Given the description of an element on the screen output the (x, y) to click on. 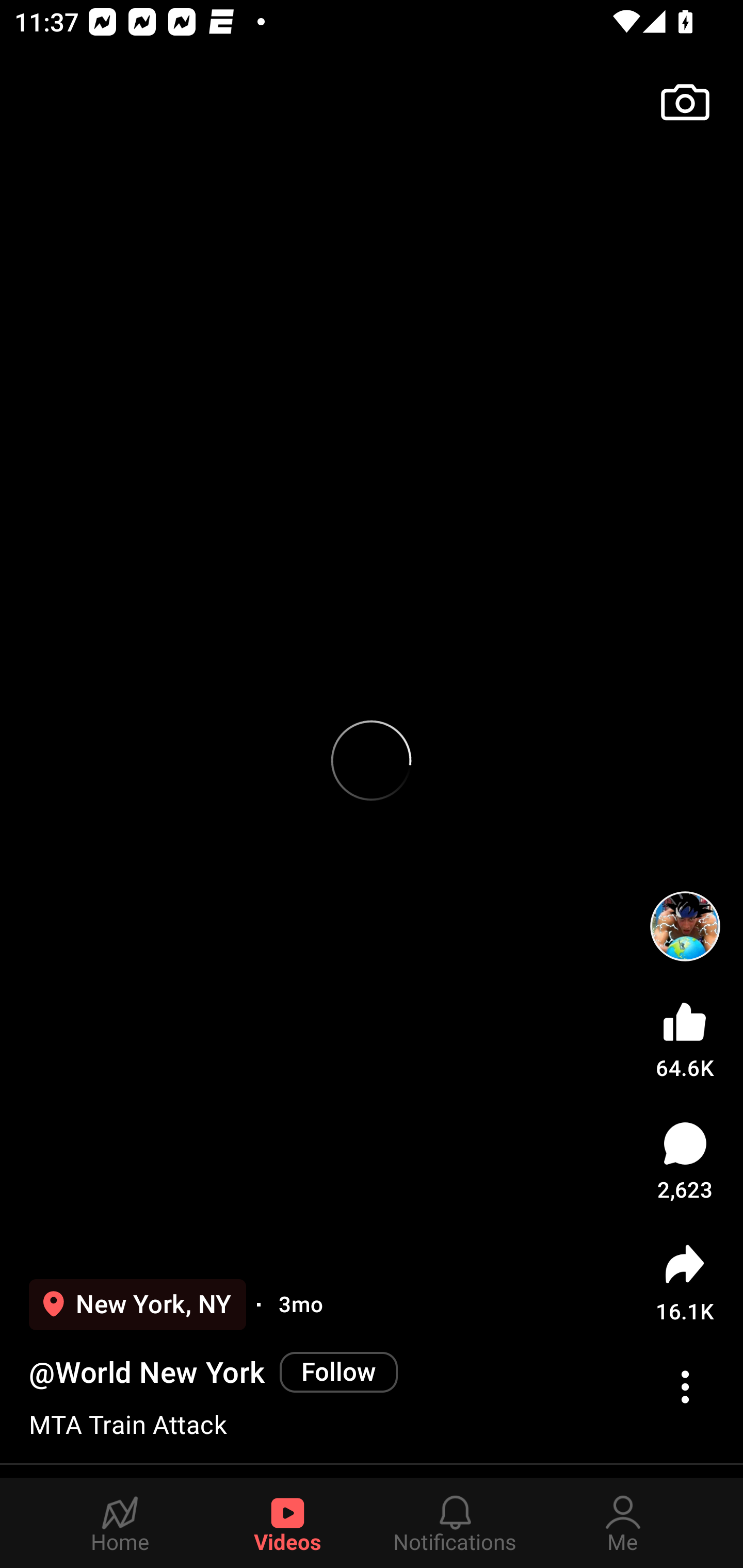
64.6K (684, 1035)
2,623 (685, 1160)
16.1K (685, 1282)
New York, NY (136, 1304)
Follow (338, 1371)
@World New York (146, 1373)
Home (119, 1522)
Notifications (455, 1522)
Me (622, 1522)
